Given the description of an element on the screen output the (x, y) to click on. 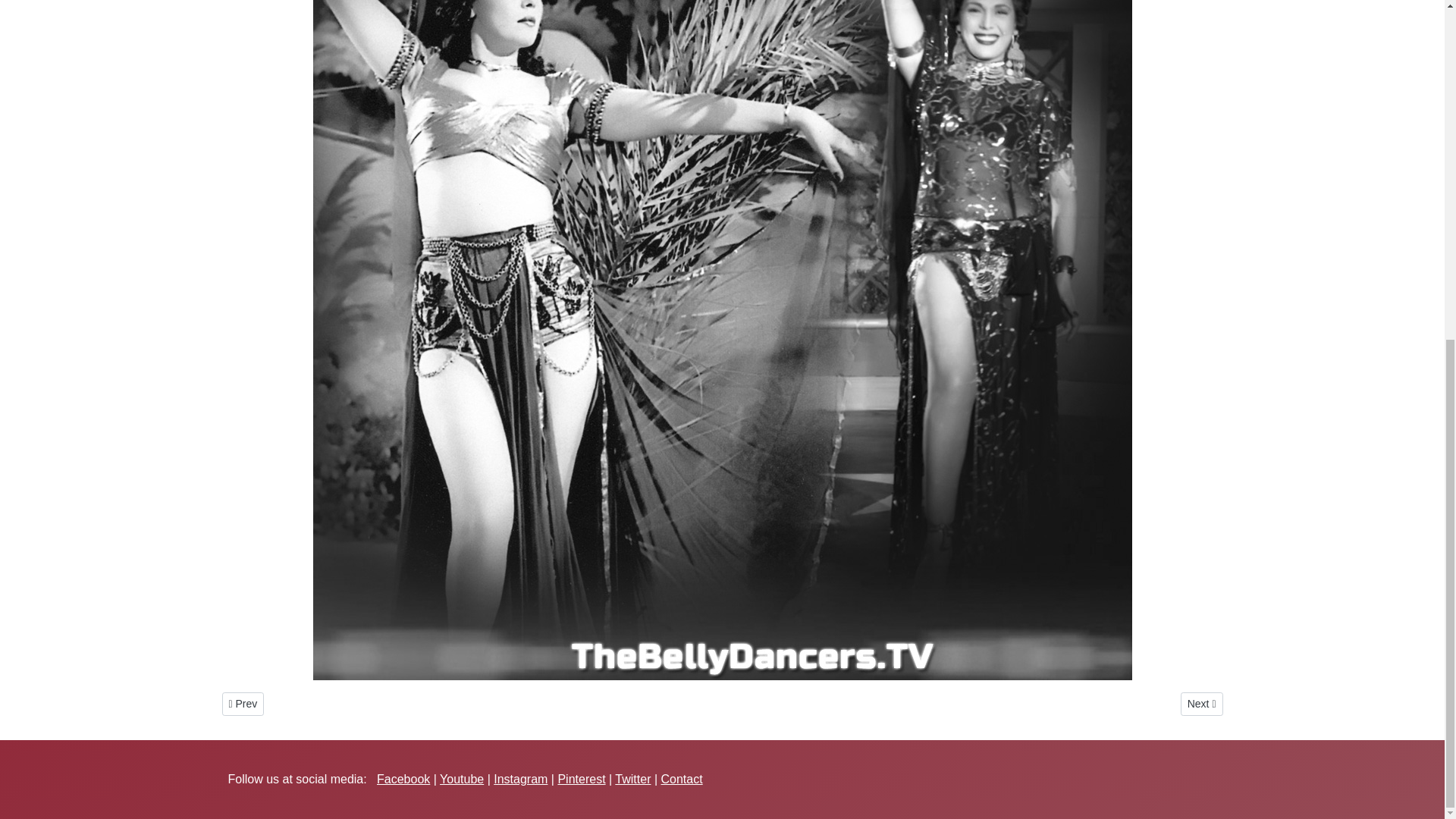
Pinterest (1201, 703)
Facebook (581, 779)
Instagram (403, 779)
Youtube (242, 703)
Twitter (520, 779)
Contact (461, 779)
